Given the description of an element on the screen output the (x, y) to click on. 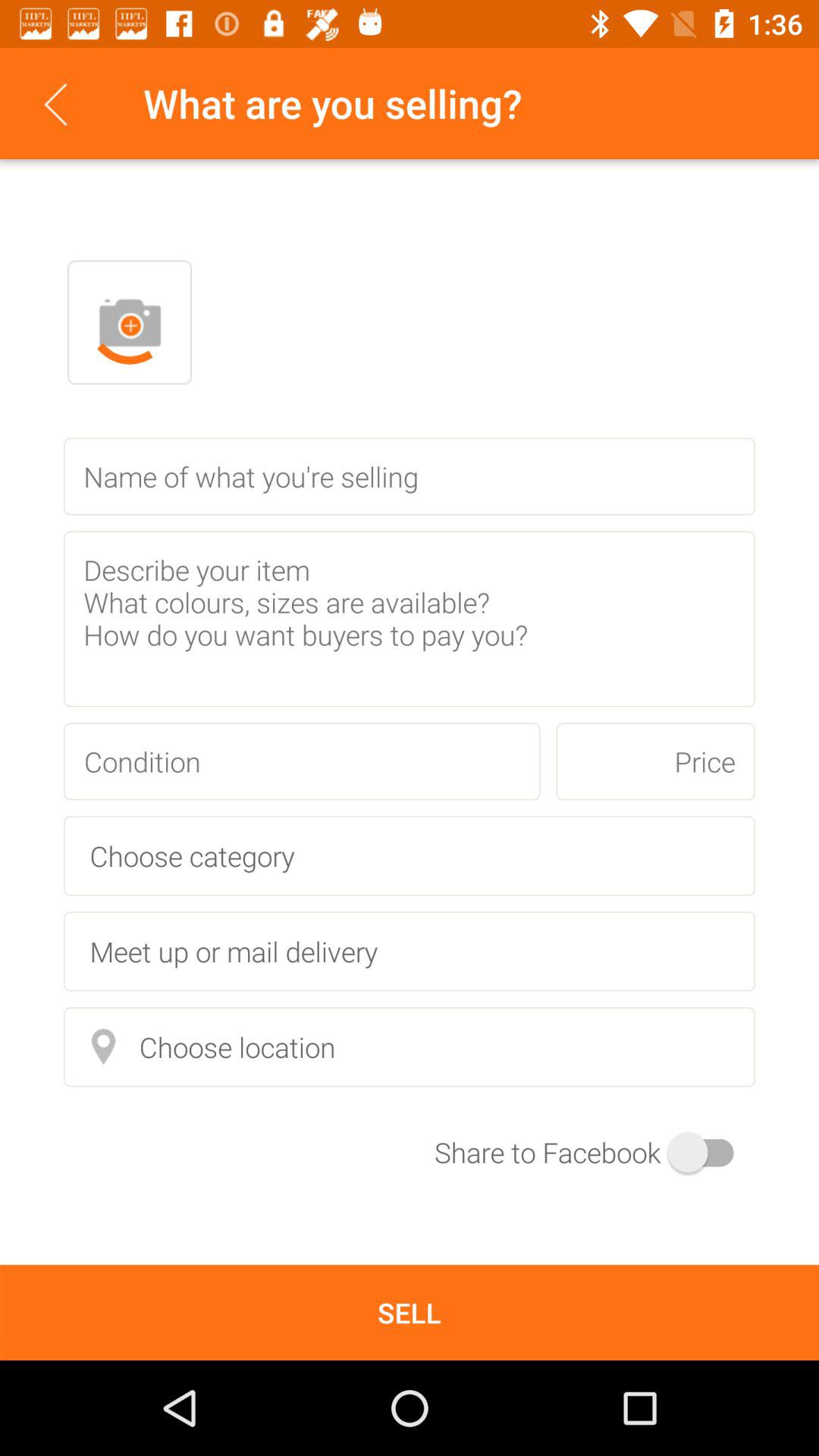
turn off the item at the bottom right corner (594, 1152)
